Given the description of an element on the screen output the (x, y) to click on. 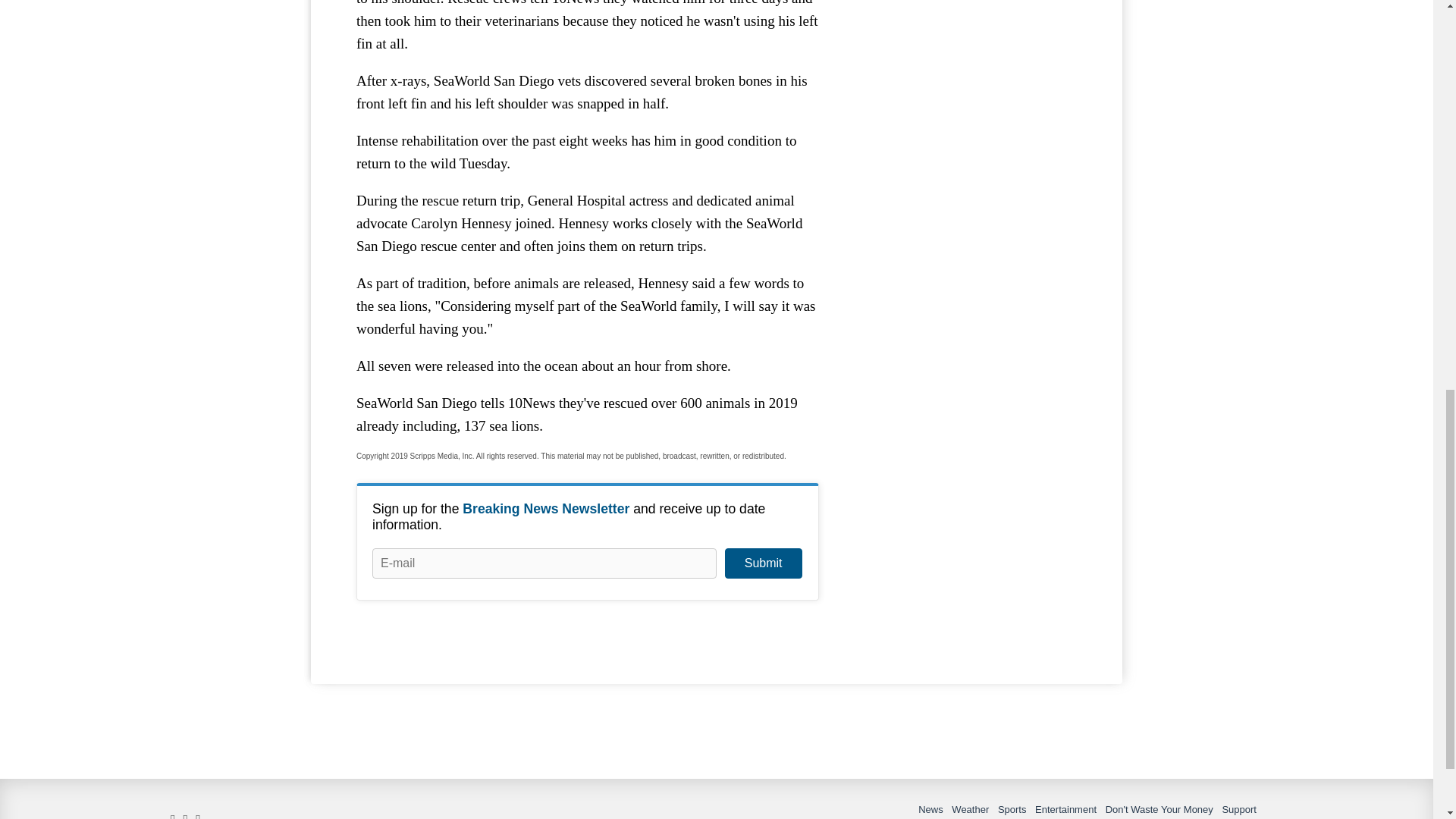
Submit (763, 562)
